Given the description of an element on the screen output the (x, y) to click on. 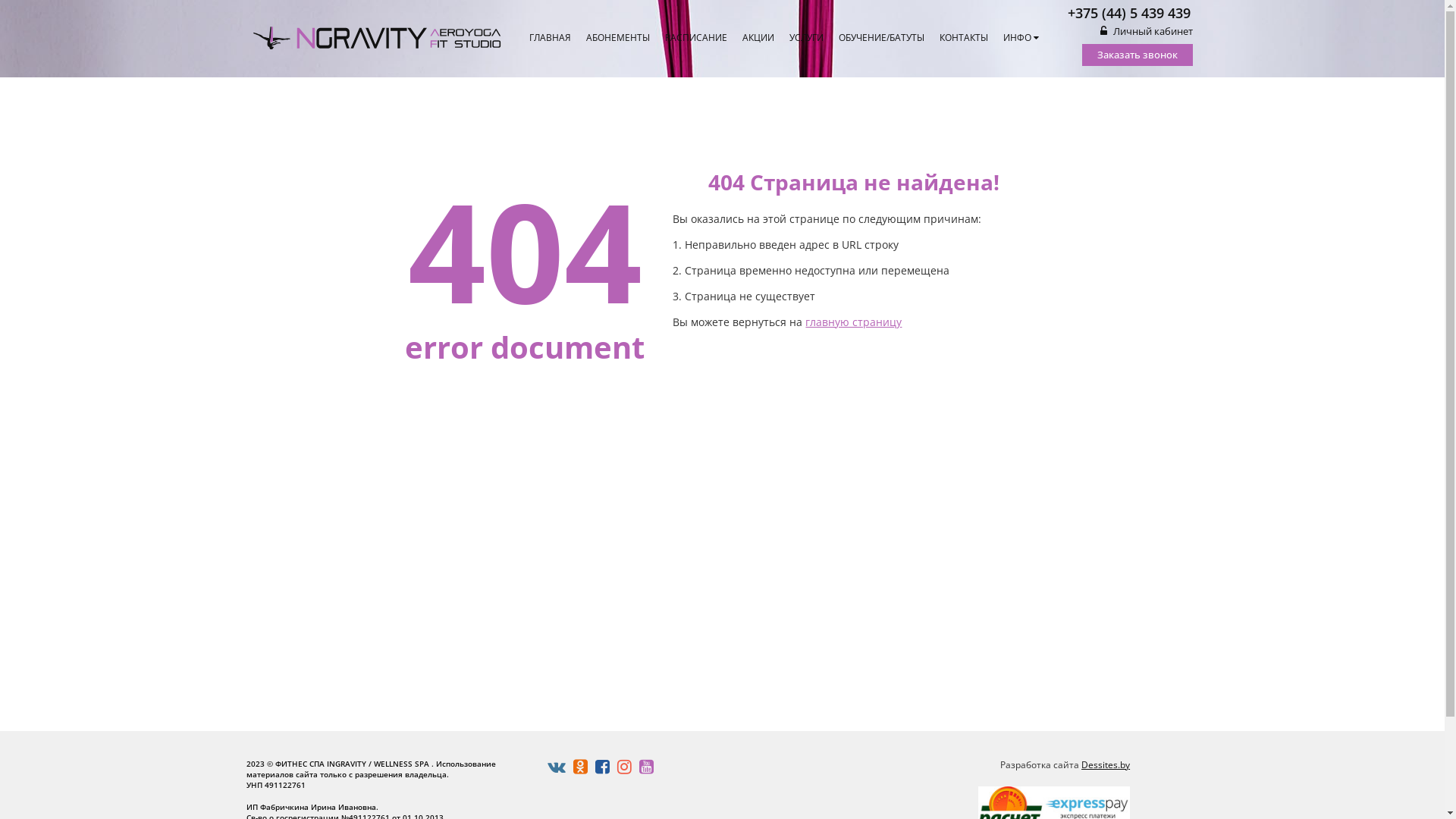
Dessites.by Element type: text (1105, 764)
+375 (44) 5 439 439 Element type: text (1129, 12)
